Given the description of an element on the screen output the (x, y) to click on. 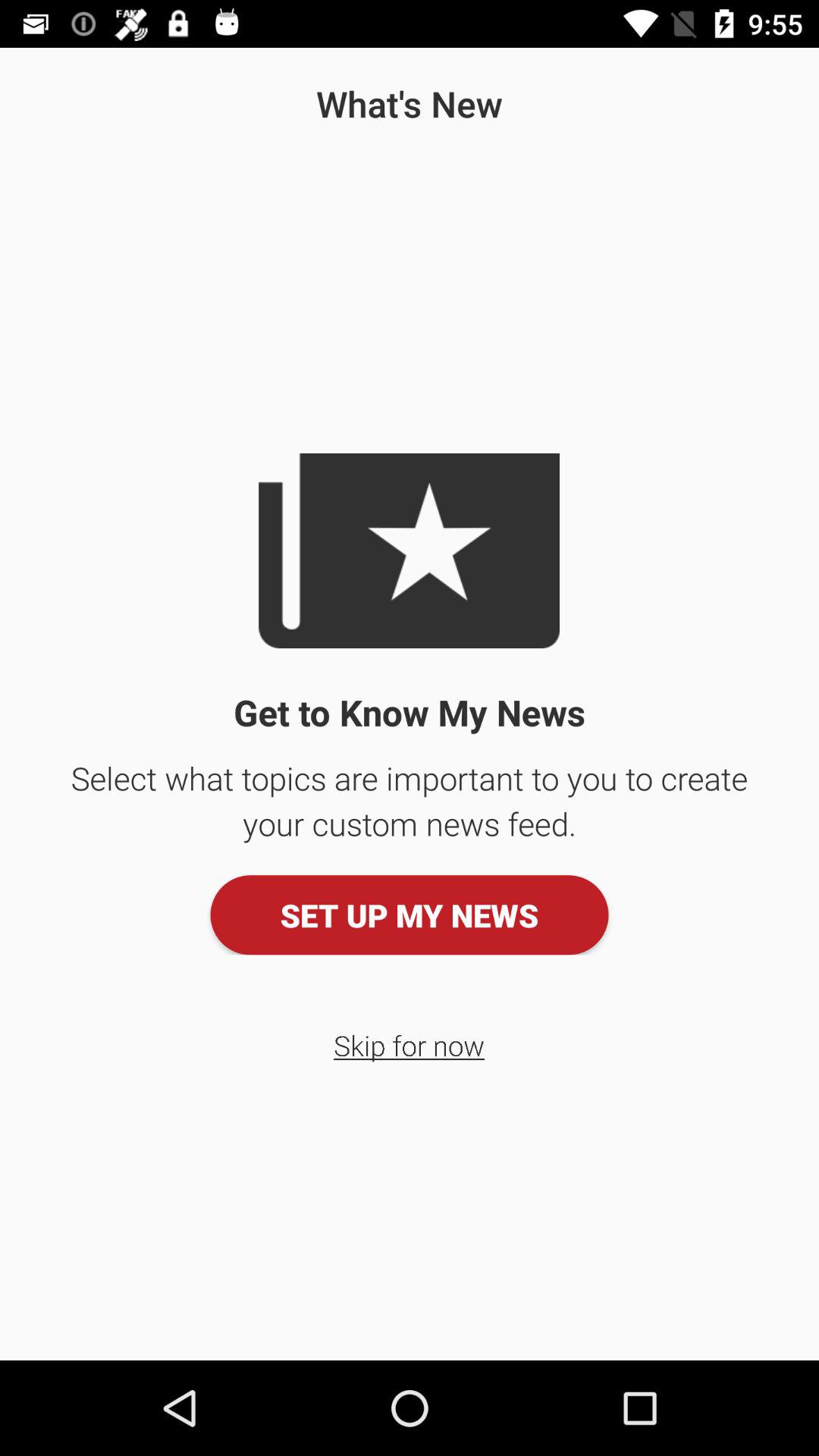
turn off set up my button (409, 914)
